Given the description of an element on the screen output the (x, y) to click on. 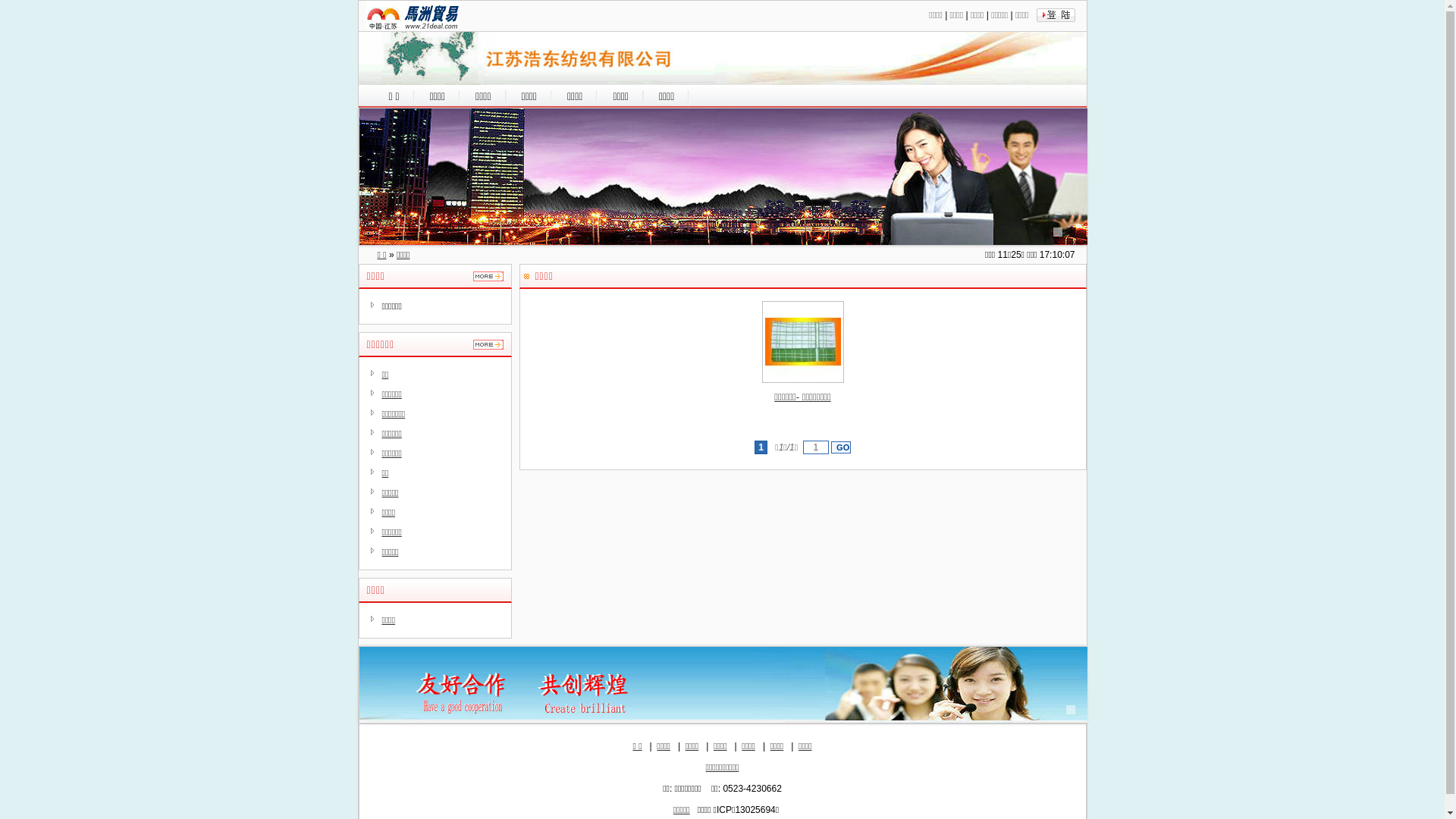
GO Element type: text (840, 447)
